Given the description of an element on the screen output the (x, y) to click on. 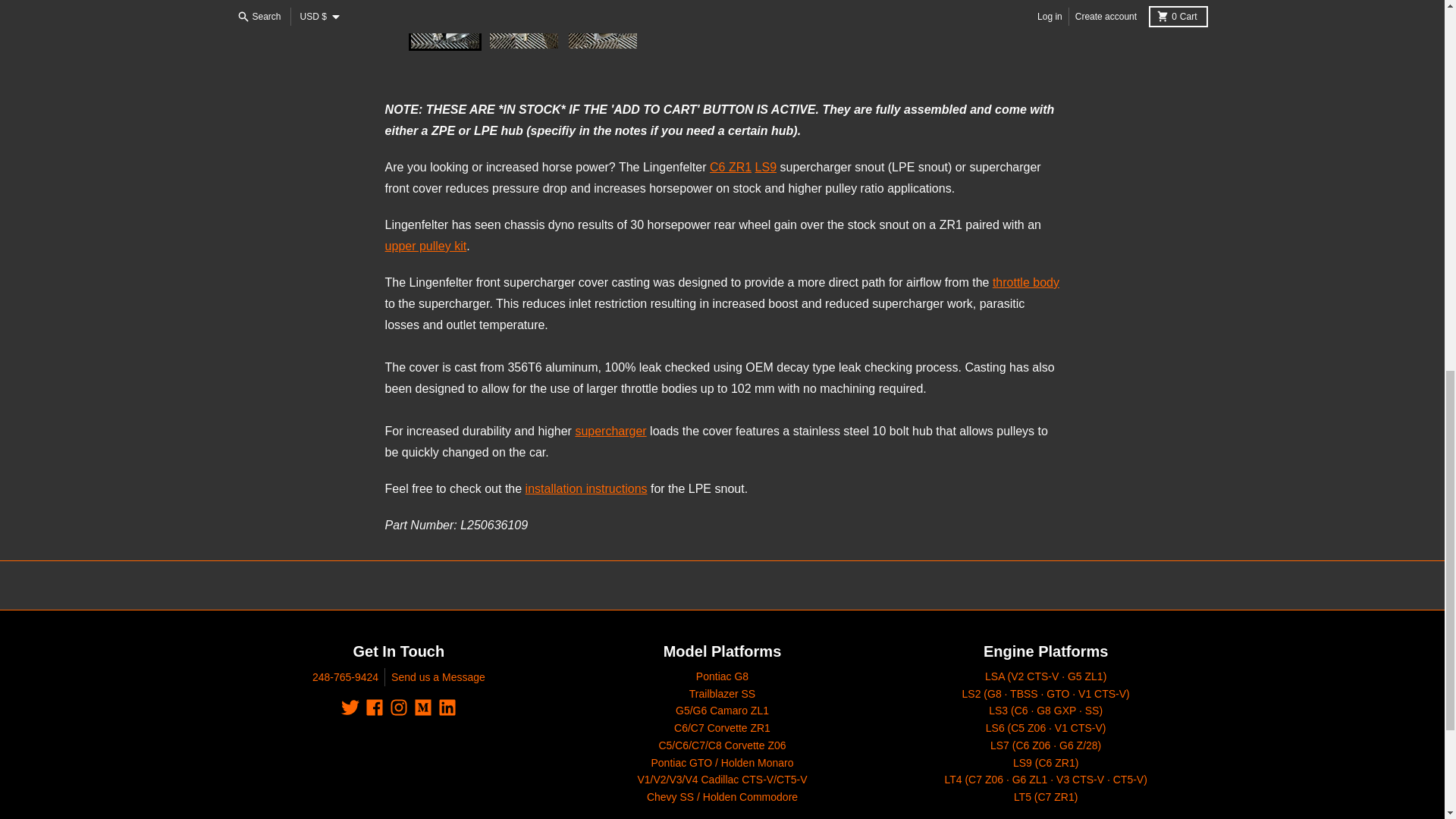
LPE Snout Install Docs (586, 488)
Performance Parts and Accessories for your LS9 Engine (765, 166)
Medium - XtremeCFM (422, 707)
Twitter - XtremeCFM (349, 707)
Facebook - XtremeCFM (374, 707)
Nick Williams Throttle Bodies and Throttle Body Adapters (1025, 282)
LinkedIn - XtremeCFM (447, 707)
Instagram - XtremeCFM (398, 707)
